Given the description of an element on the screen output the (x, y) to click on. 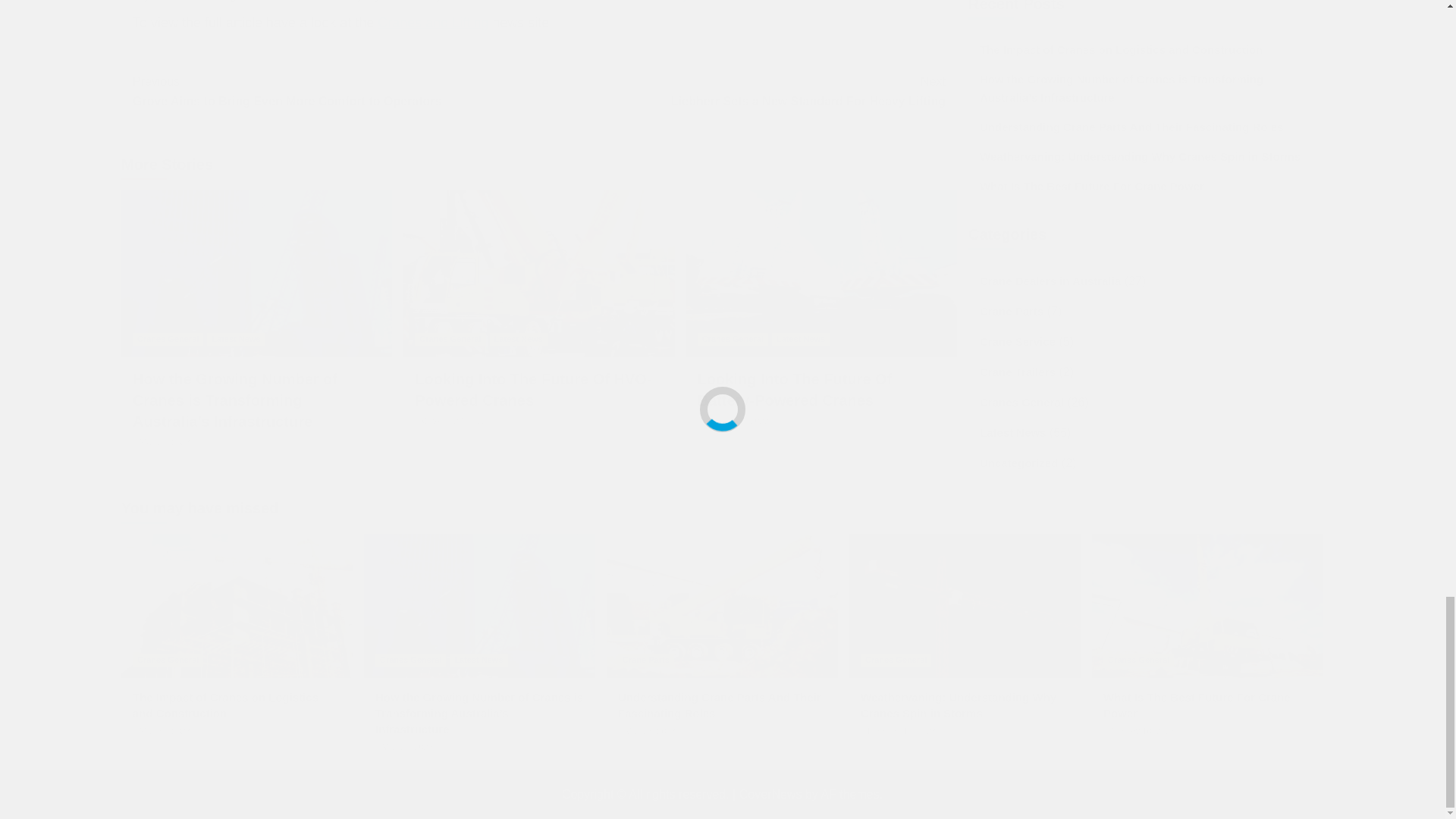
Latest News (800, 338)
October 27, 2022 (454, 420)
Cranes and Lifting (432, 22)
United Safety (647, 0)
October 18, 2022 (736, 420)
Looking Into The Future Of HVO-Powered Cranes (532, 389)
Looking Into The Future Of Battery-Powered Cranes (794, 389)
May 26, 2023 (164, 441)
United Safety (647, 0)
CoverNews (770, 793)
